Given the description of an element on the screen output the (x, y) to click on. 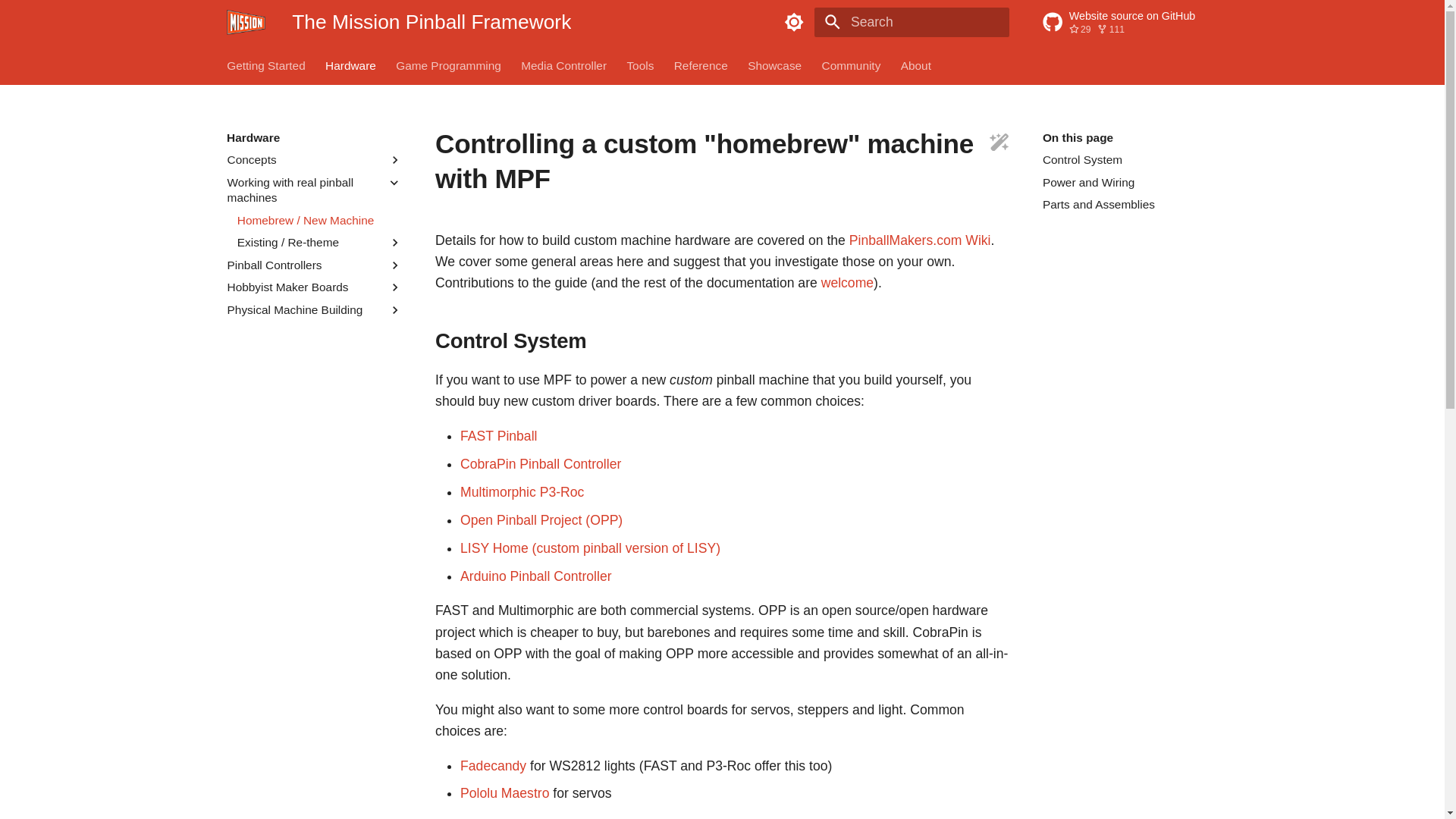
Media Controller (564, 65)
Getting Started (266, 65)
Edit this page (999, 143)
Go to repository (1129, 22)
Switch to dark mode (1129, 22)
Reference (793, 22)
Hardware (701, 65)
Tools (349, 65)
Community (639, 65)
The Mission Pinball Framework (850, 65)
Game Programming (245, 22)
Showcase (448, 65)
About (775, 65)
